Given the description of an element on the screen output the (x, y) to click on. 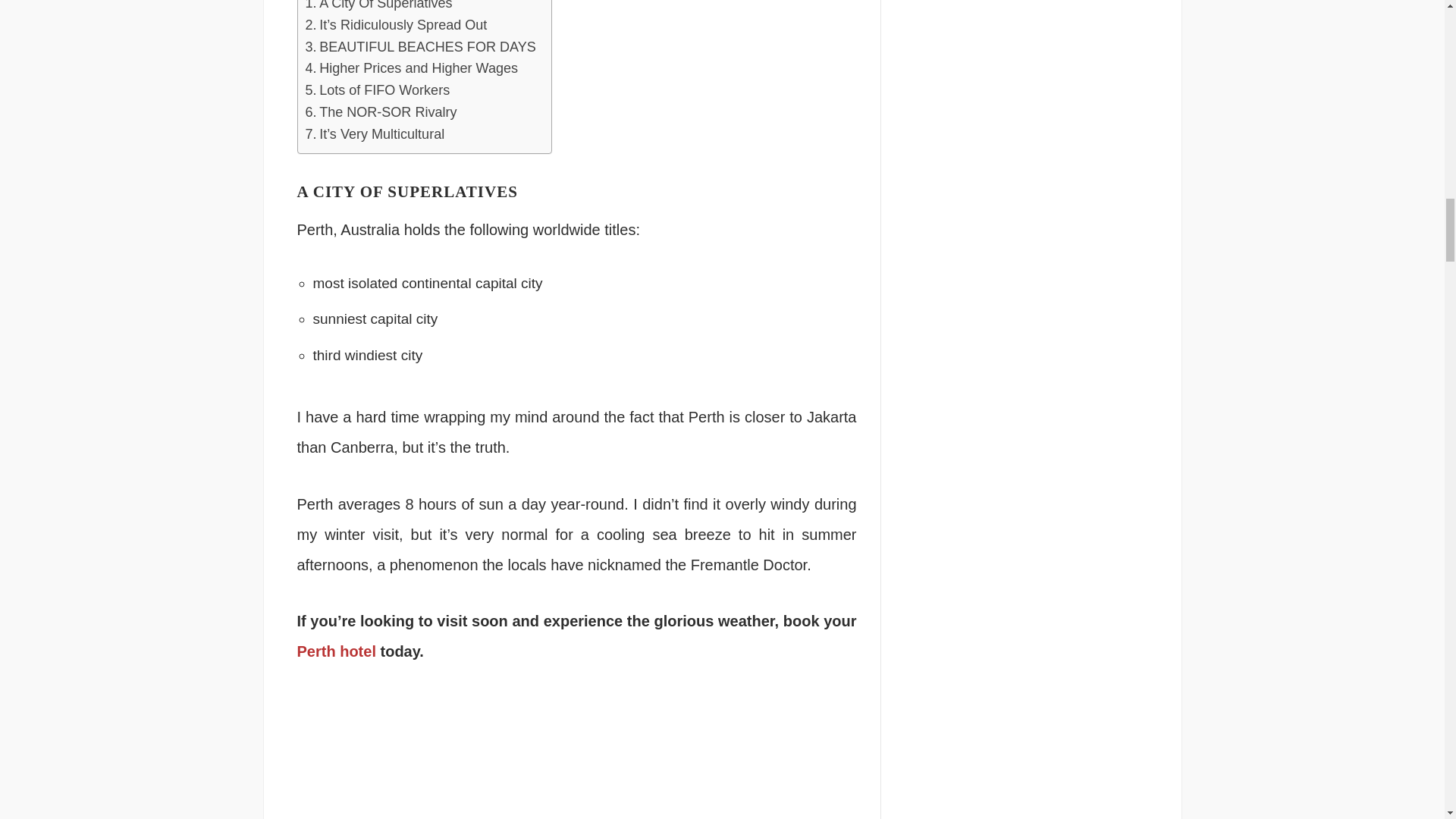
The NOR-SOR Rivalry (380, 112)
BEAUTIFUL BEACHES FOR DAYS (419, 47)
Higher Prices and Higher Wages (411, 68)
Lots of FIFO Workers (376, 90)
A City Of Superlatives (377, 7)
